Given the description of an element on the screen output the (x, y) to click on. 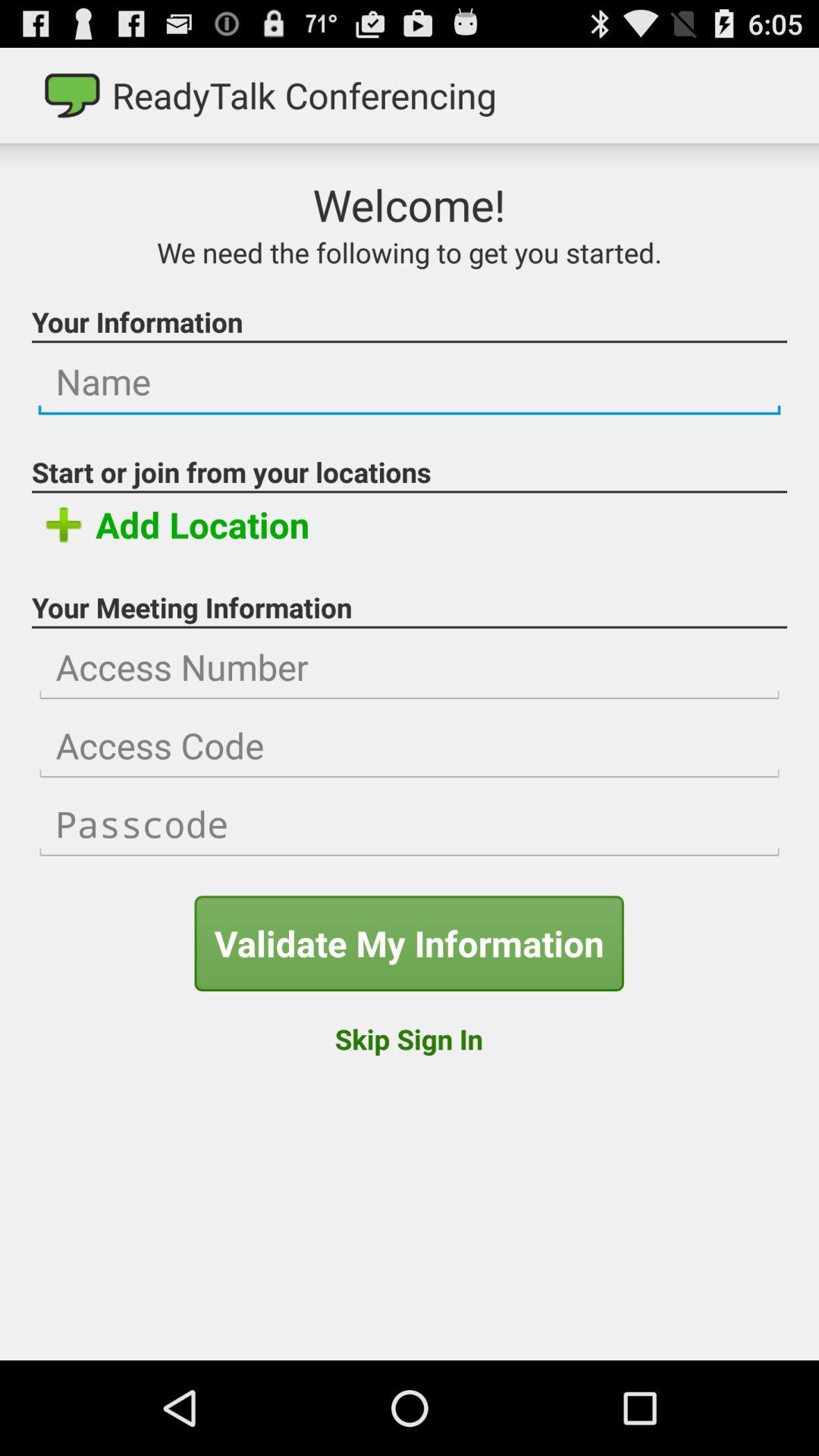
turn on the validate my information item (408, 943)
